Given the description of an element on the screen output the (x, y) to click on. 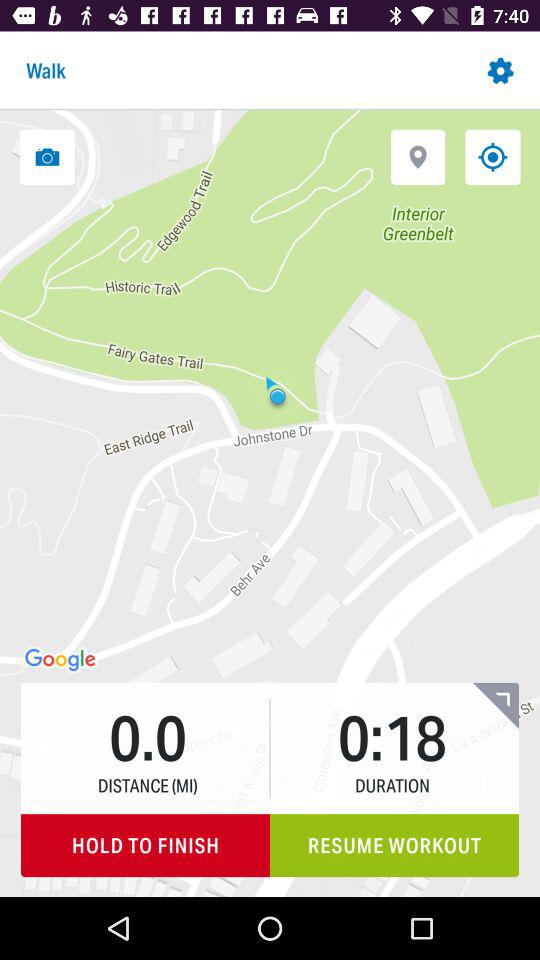
press the hold to finish (145, 845)
